Given the description of an element on the screen output the (x, y) to click on. 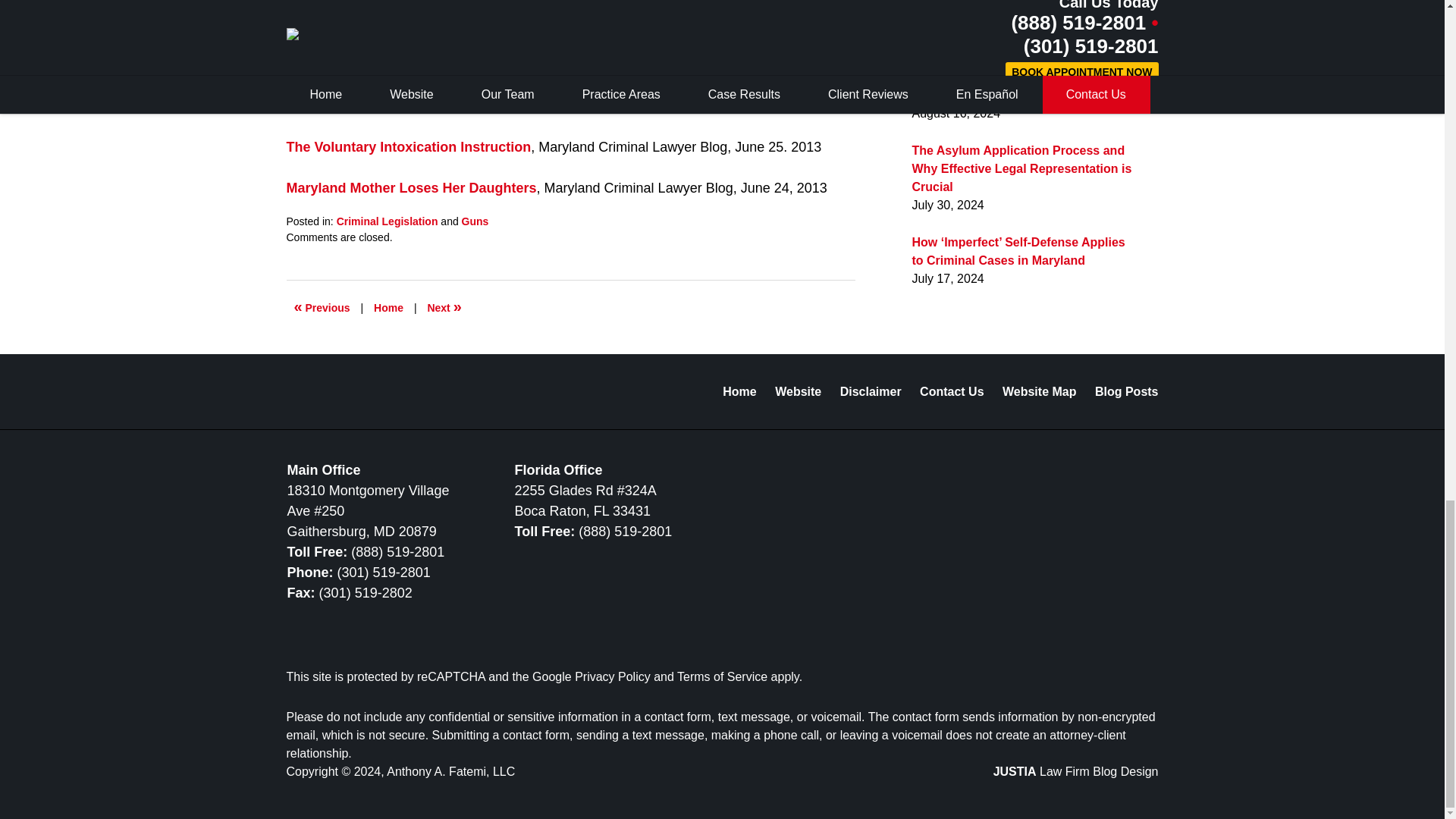
The Voluntary Intoxication Instruction (408, 146)
View all posts in Criminal Legislation (387, 221)
Home (388, 307)
Guns (475, 221)
Maryland Mother Loses Her Daughters (411, 187)
Maryland criminal defense attorney (568, 54)
Criminal Legislation (387, 221)
View all posts in Guns (475, 221)
